Given the description of an element on the screen output the (x, y) to click on. 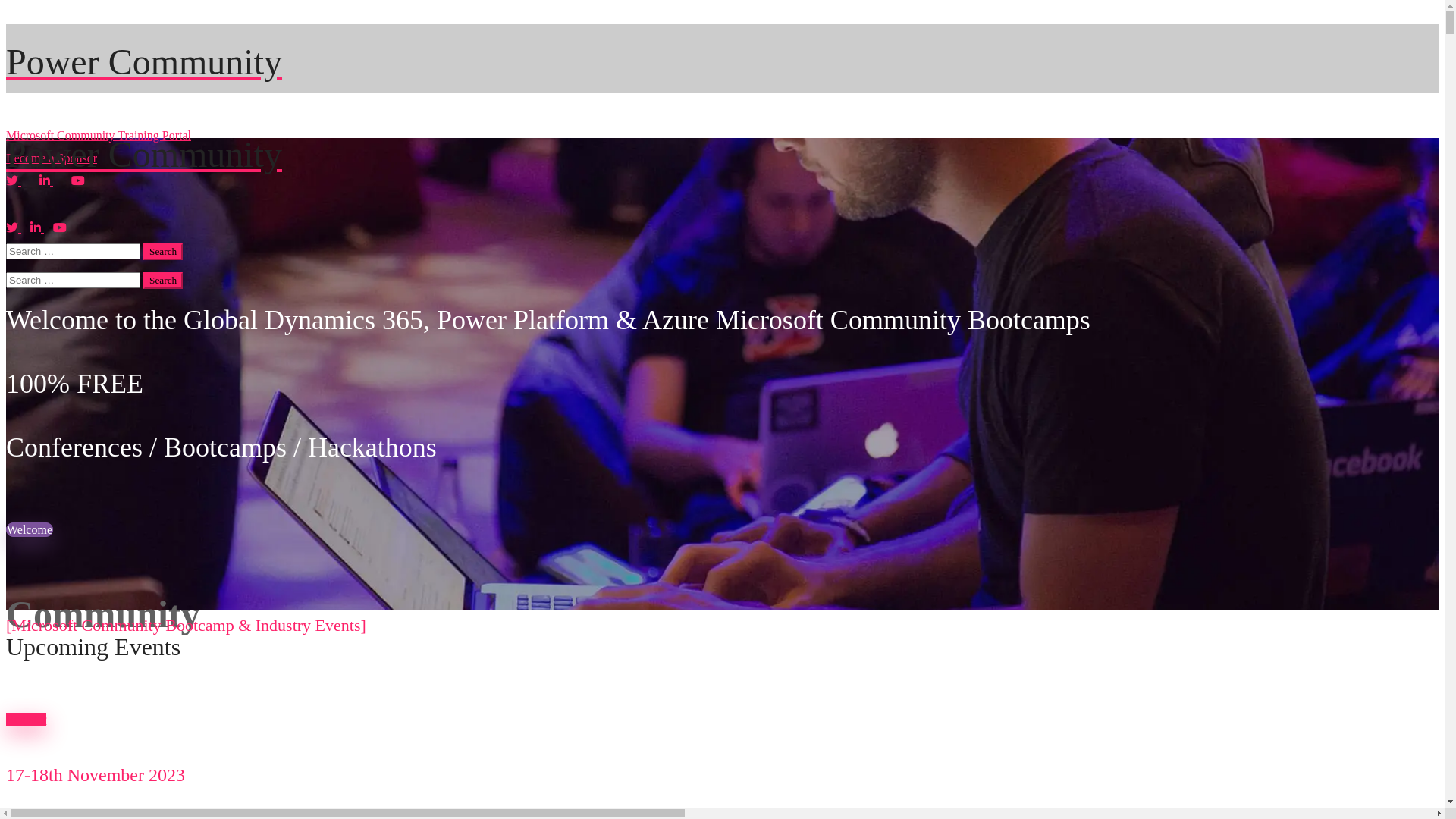
Search Element type: text (162, 280)
Become a Sponsor Element type: text (51, 157)
Welcome Element type: text (29, 529)
Power Community Element type: text (722, 62)
Microsoft Community Training Portal Element type: text (98, 134)
Search Element type: text (162, 251)
Register Element type: text (26, 718)
Power Community Element type: text (722, 154)
